Given the description of an element on the screen output the (x, y) to click on. 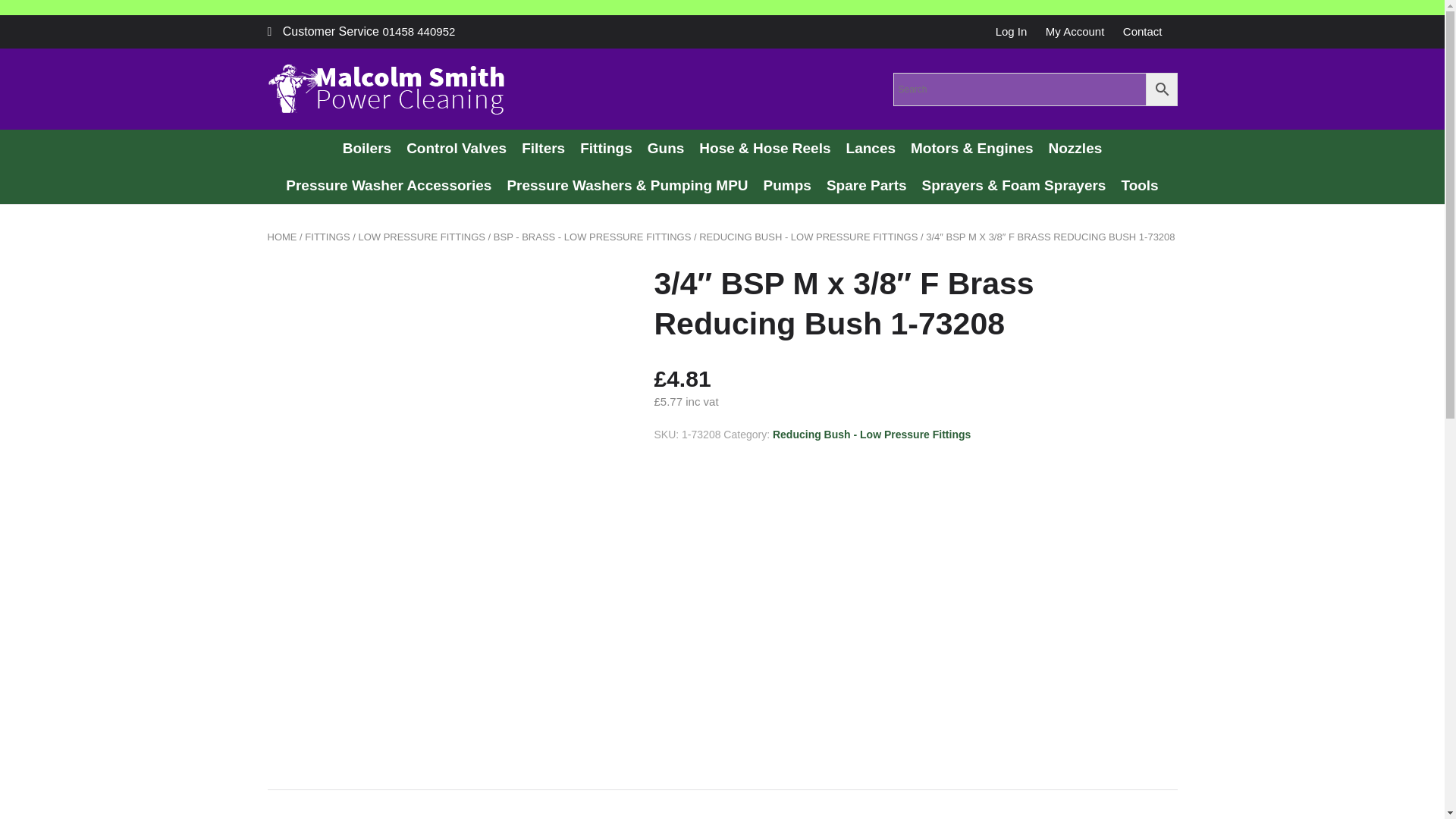
My Account (1075, 31)
My Account (1075, 31)
Malcom Smith Power Cleaning (384, 88)
Boilers (366, 148)
Contact (1141, 31)
Log In (1011, 31)
01458 440952 (417, 31)
Filters (542, 148)
Control Valves (455, 148)
Contact (1141, 31)
